Given the description of an element on the screen output the (x, y) to click on. 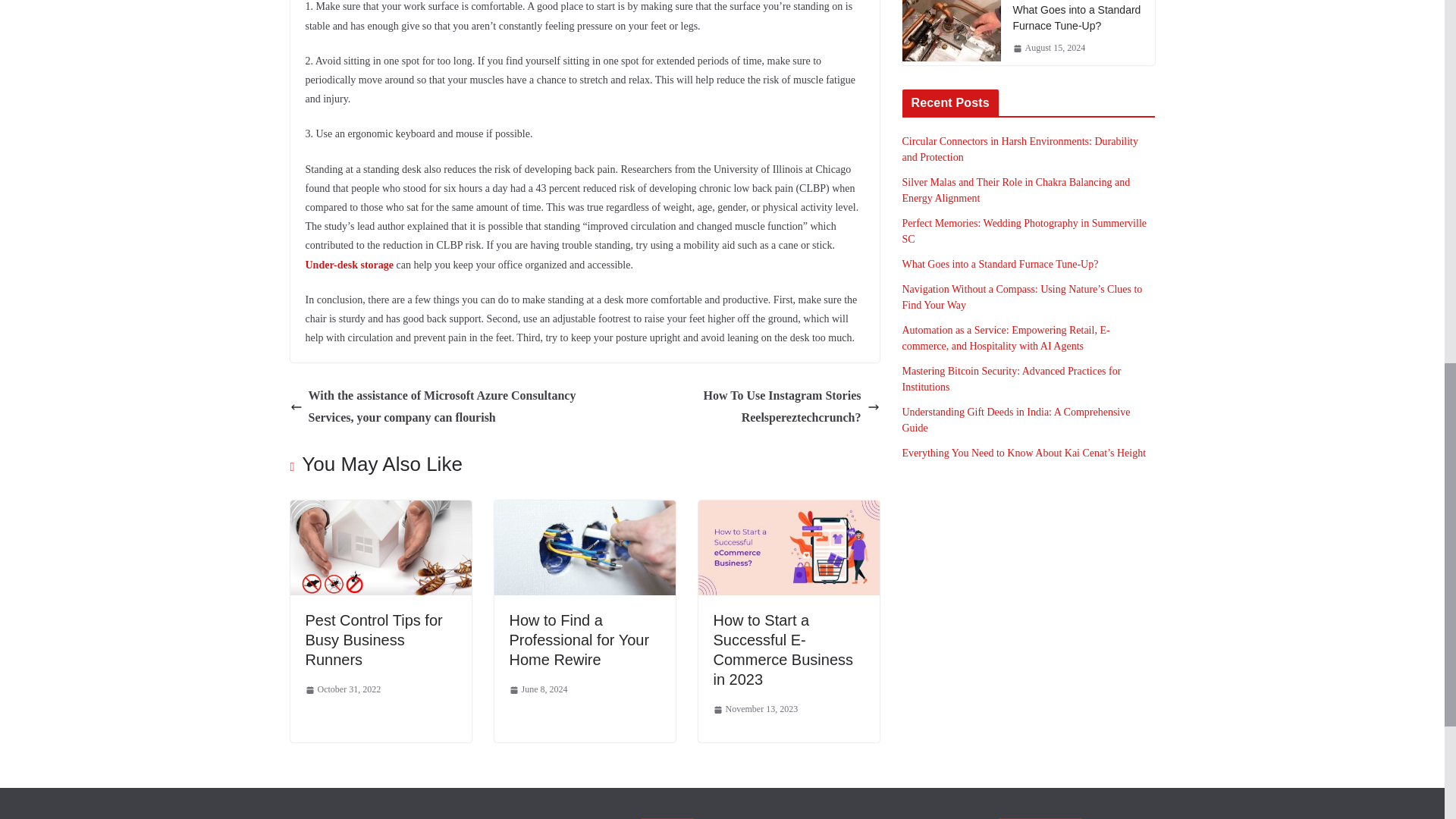
How to Start a Successful E-Commerce Business in 2023 (783, 649)
Pest Control Tips for Busy Business Runners (379, 510)
4:22 am (755, 709)
October 31, 2022 (342, 689)
Under-desk storage (348, 265)
How to Find a Professional for Your Home Rewire (579, 639)
2:47 pm (538, 689)
6:43 pm (342, 689)
How to Start a Successful E-Commerce Business in 2023 (783, 649)
